Given the description of an element on the screen output the (x, y) to click on. 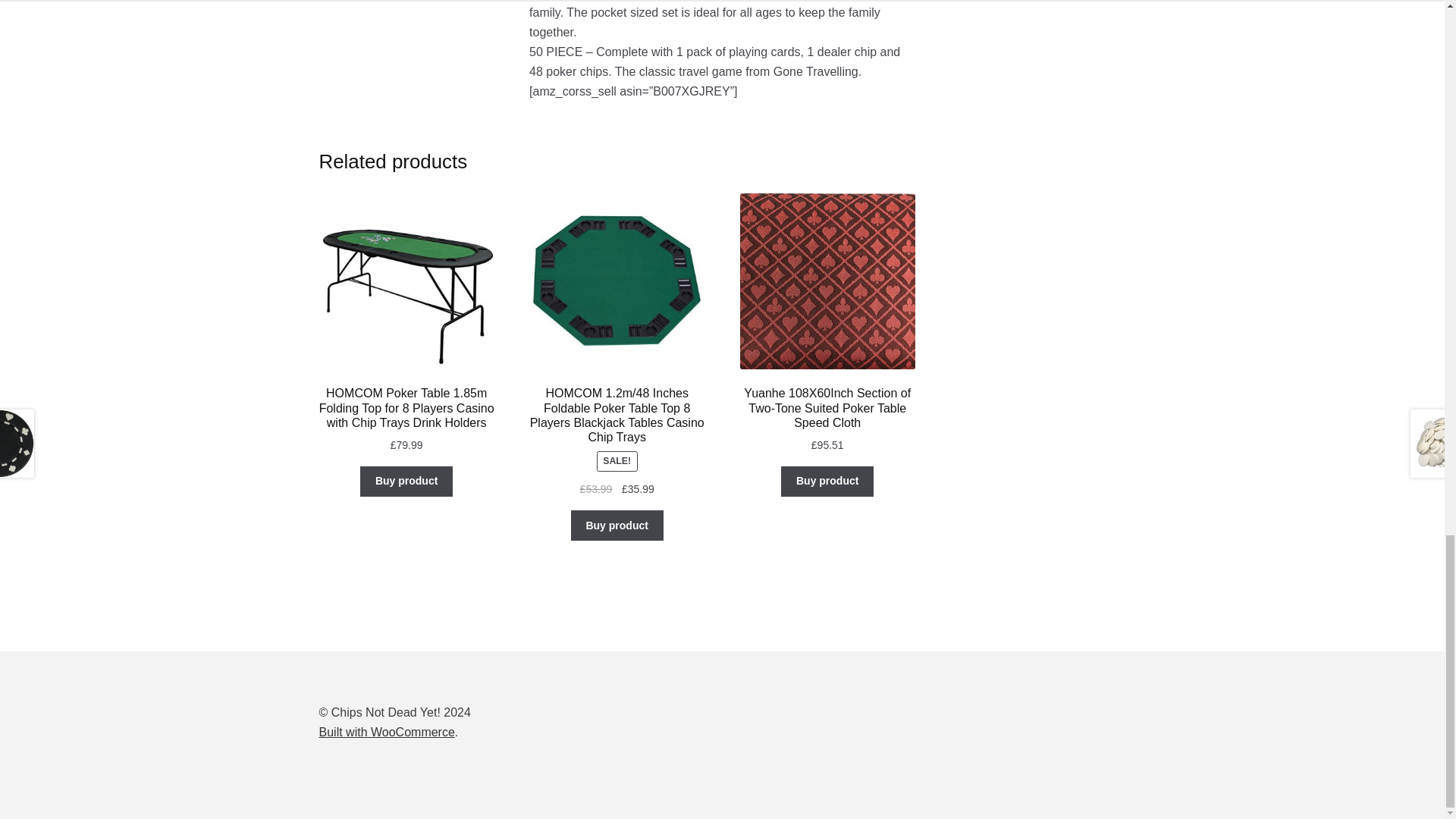
WooCommerce - The Best eCommerce Platform for WordPress (386, 731)
